Given the description of an element on the screen output the (x, y) to click on. 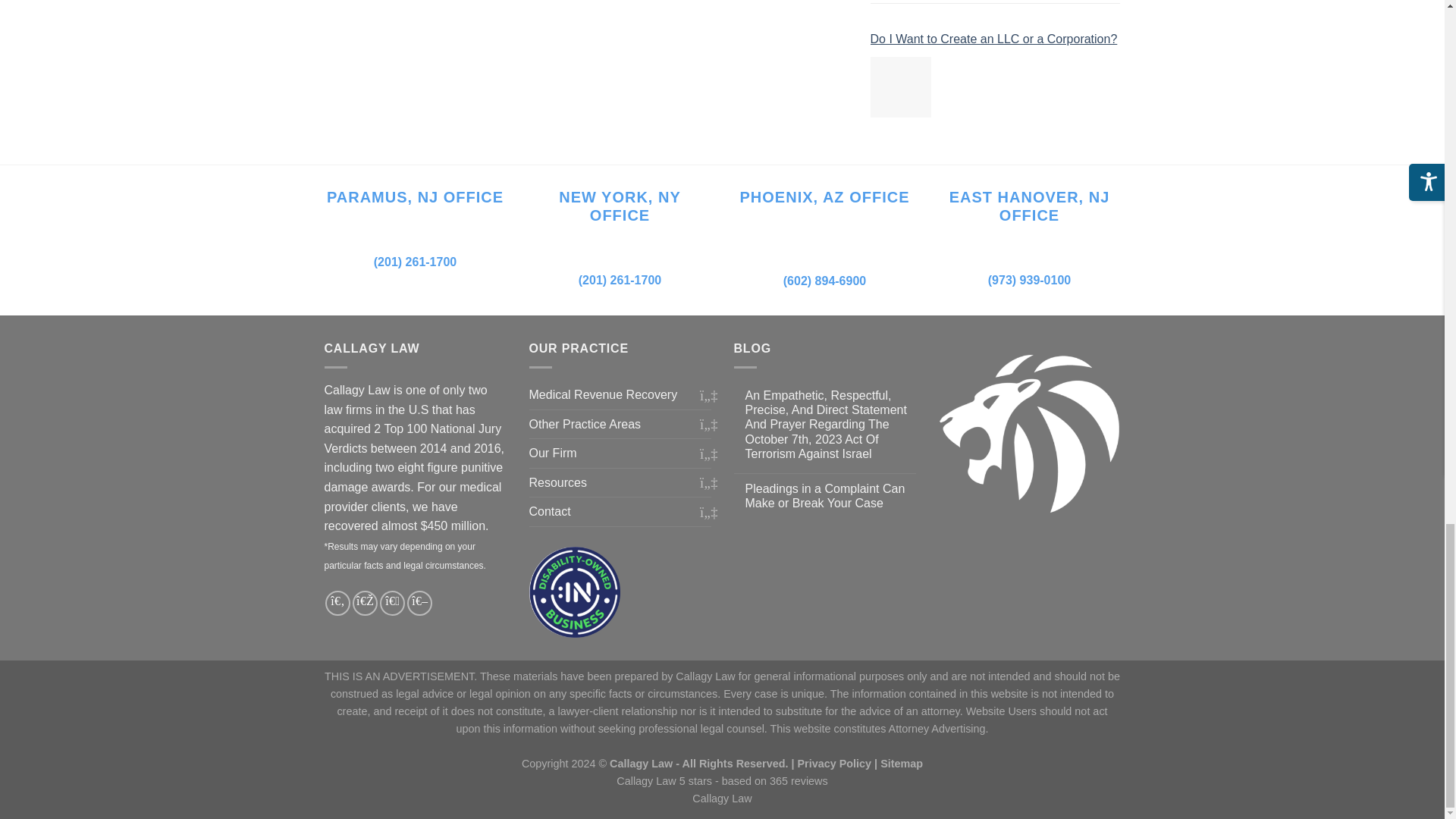
Do I Want to Create an LLC or a Corporation? (900, 86)
Follow on Instagram (364, 602)
Follow on Twitter (392, 602)
Follow on Facebook (337, 602)
